Given the description of an element on the screen output the (x, y) to click on. 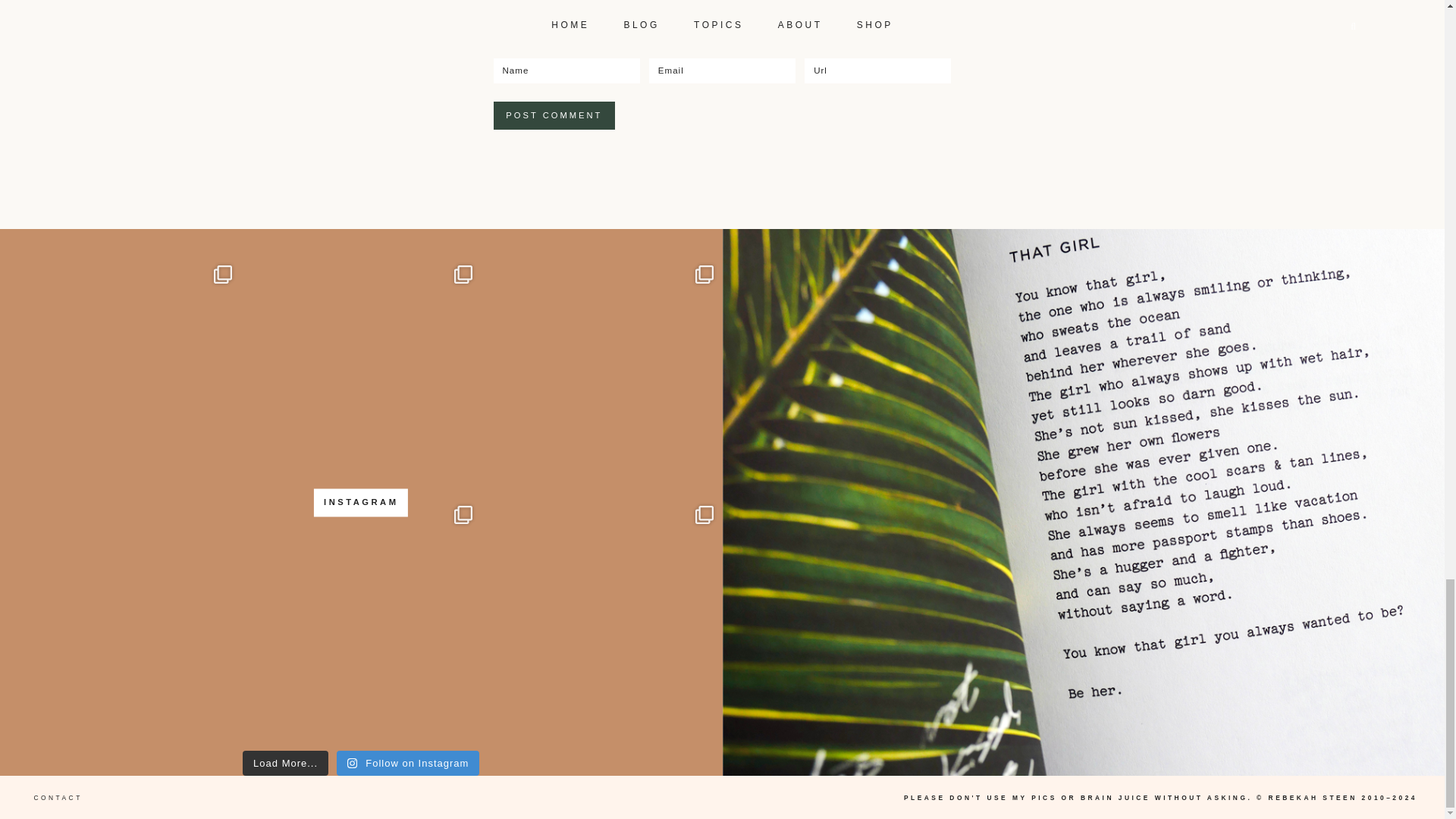
Post Comment (553, 115)
